Given the description of an element on the screen output the (x, y) to click on. 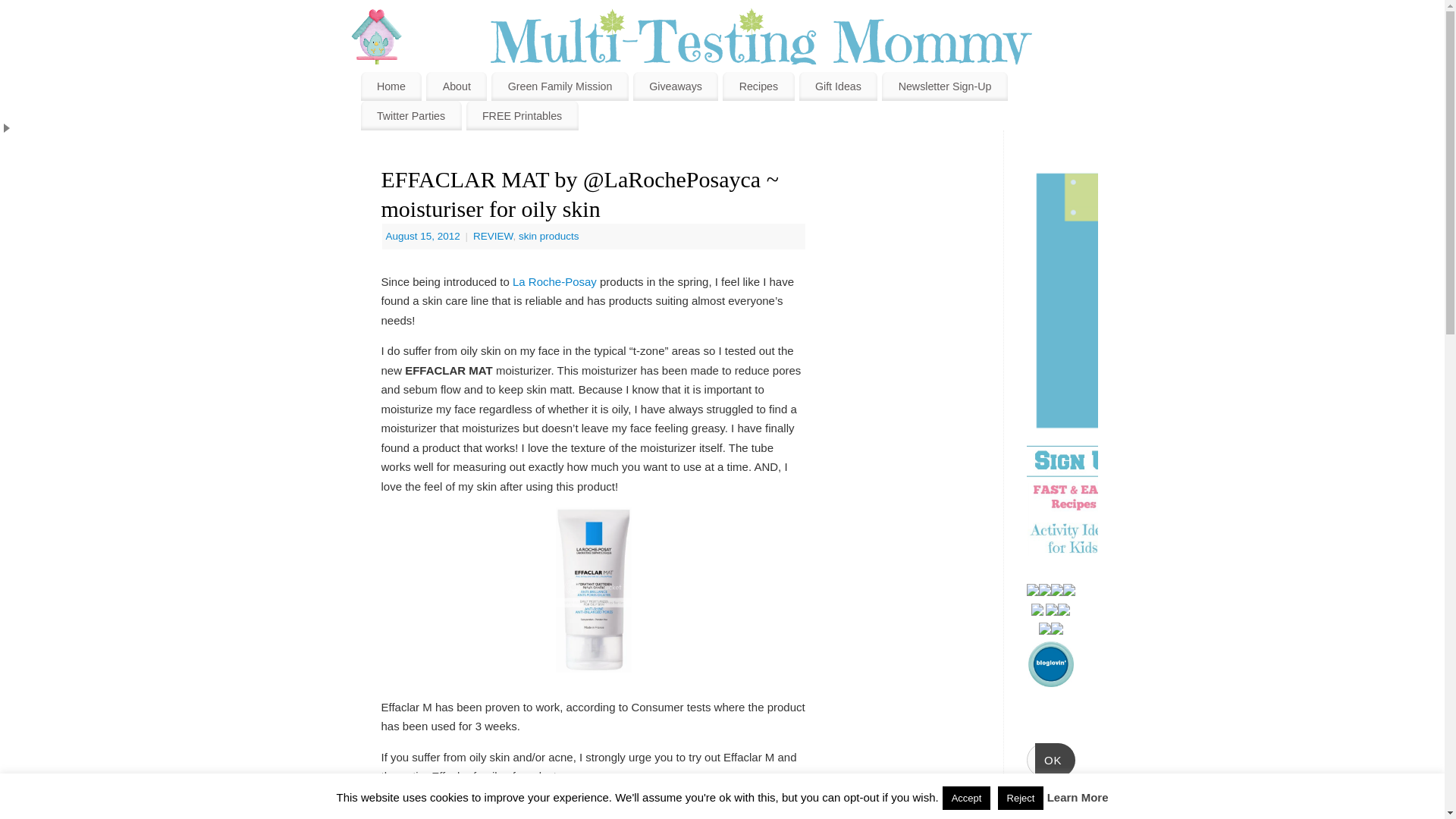
skin products (548, 235)
August 15, 2012 (424, 235)
Gift Ideas (838, 86)
Newsletter Sign-Up (944, 86)
Recipes (757, 86)
Home (391, 86)
REVIEW (493, 235)
Recipes (757, 86)
About (456, 86)
Green Family Mission (560, 86)
